Given the description of an element on the screen output the (x, y) to click on. 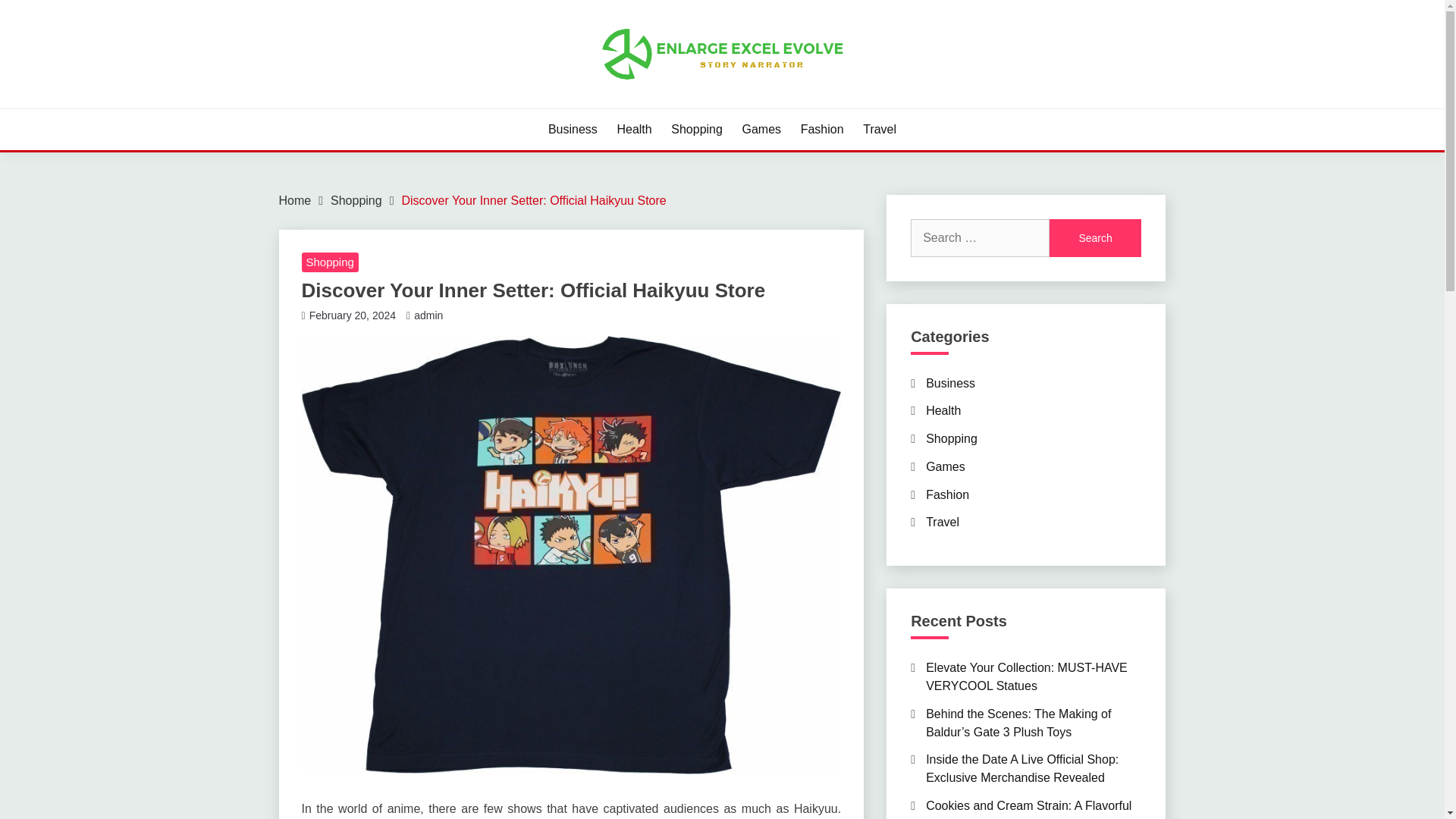
Shopping (951, 438)
Travel (879, 129)
Shopping (696, 129)
Business (950, 382)
Search (1095, 238)
Home (295, 200)
Shopping (329, 261)
Discover Your Inner Setter: Official Haikyuu Store (533, 200)
Business (572, 129)
February 20, 2024 (352, 315)
admin (427, 315)
Search (1095, 238)
Games (945, 466)
Search (1095, 238)
